Given the description of an element on the screen output the (x, y) to click on. 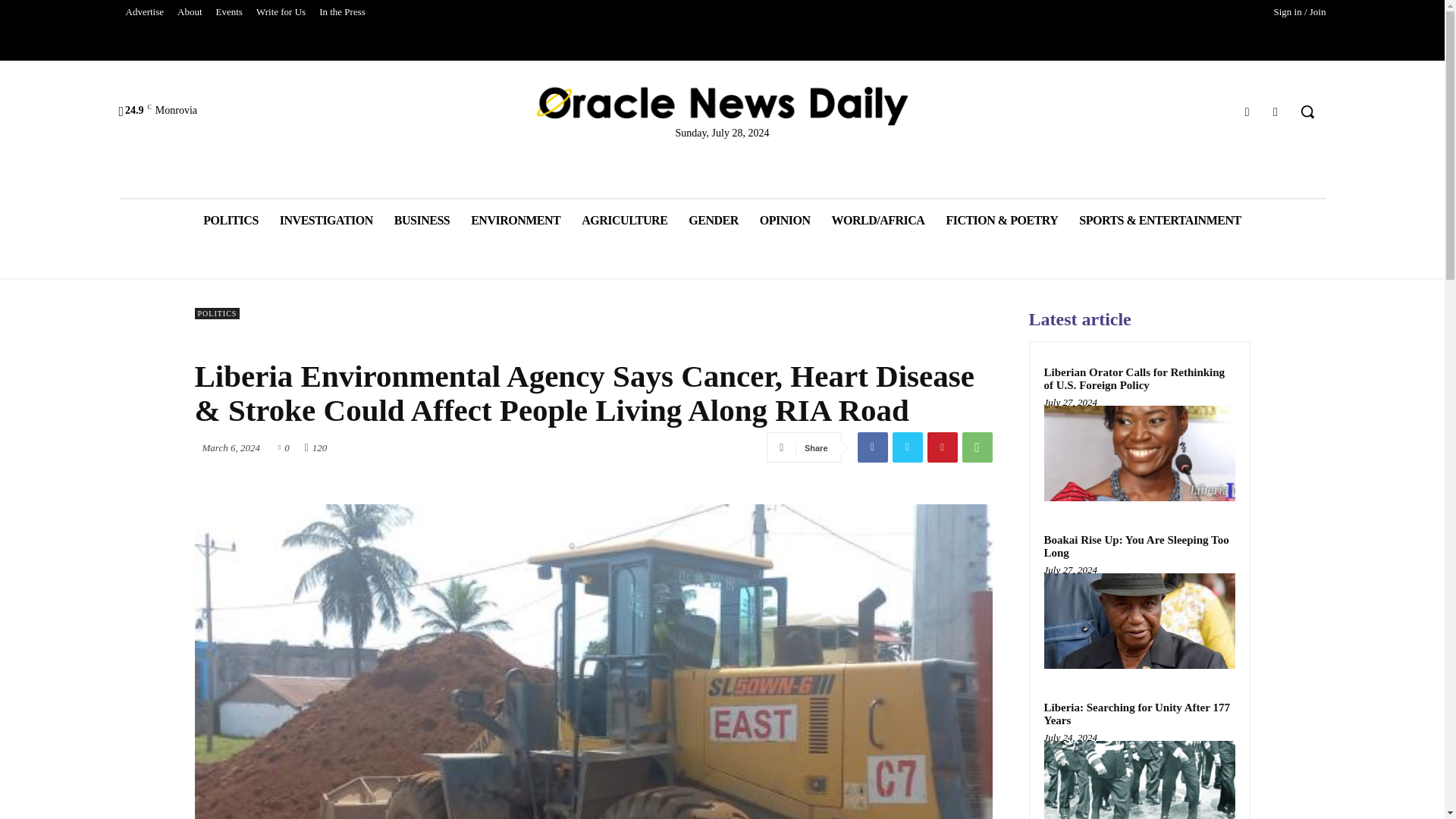
INVESTIGATION (326, 219)
POLITICS (229, 219)
WhatsApp (975, 447)
In the Press (342, 12)
Facebook (1246, 111)
OPINION (785, 219)
GENDER (713, 219)
About (189, 12)
Pinterest (941, 447)
Facebook (871, 447)
BUSINESS (422, 219)
Events (228, 12)
Twitter (1275, 111)
Write for Us (280, 12)
ENVIRONMENT (515, 219)
